Given the description of an element on the screen output the (x, y) to click on. 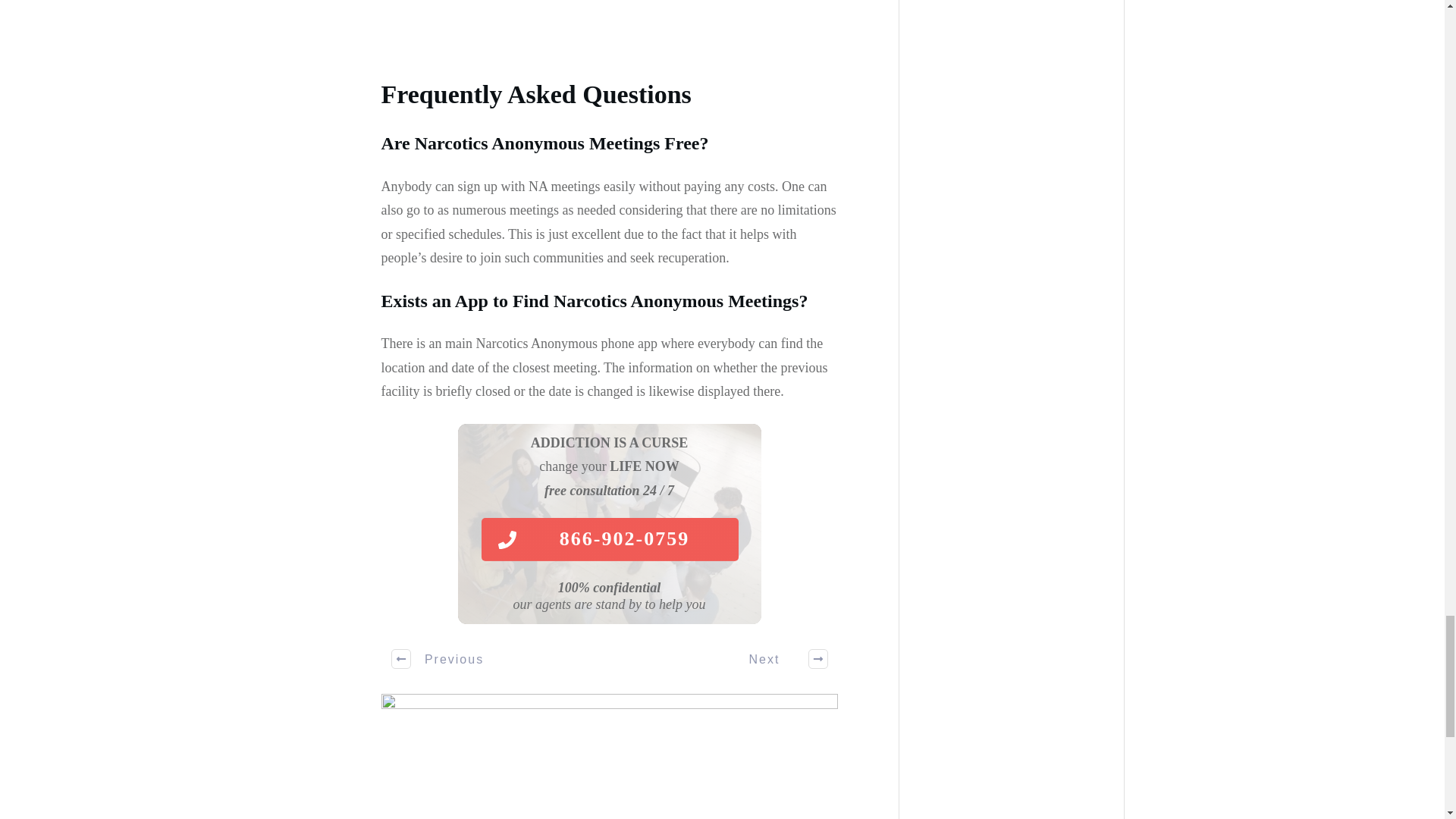
Previous (438, 658)
YouTube video player (592, 25)
Next (780, 658)
NA Meetings in Arden-Arcade, CA (608, 756)
866-902-0759 (609, 539)
